Given the description of an element on the screen output the (x, y) to click on. 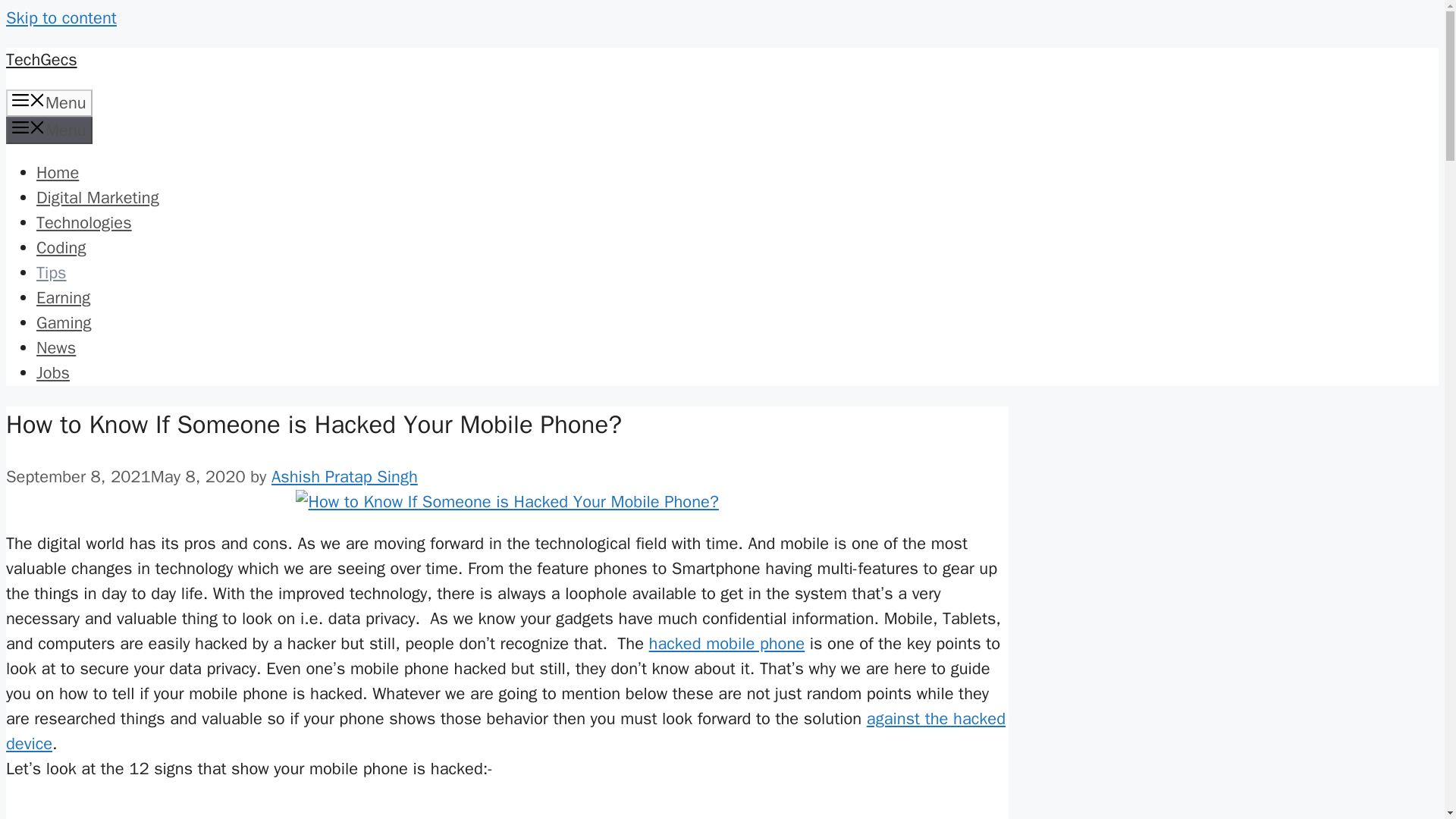
Home (57, 172)
Skip to content (60, 17)
View all posts by Ashish Pratap Singh (343, 476)
Skip to content (60, 17)
hacked mobile phone (727, 643)
Tips (51, 272)
Jobs (52, 373)
TechGecs (41, 59)
Earning (63, 297)
against the hacked device (505, 731)
News (55, 347)
Technologies (84, 222)
Digital Marketing (97, 197)
How to Know If Someone is Hacked Your Mobile Phone? (506, 502)
Gaming (63, 322)
